Given the description of an element on the screen output the (x, y) to click on. 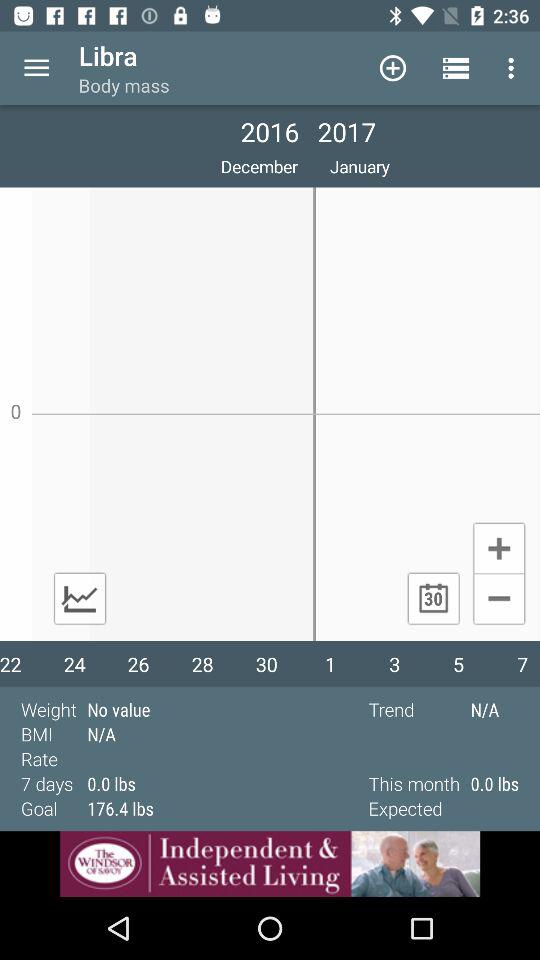
zoom in (498, 547)
